Given the description of an element on the screen output the (x, y) to click on. 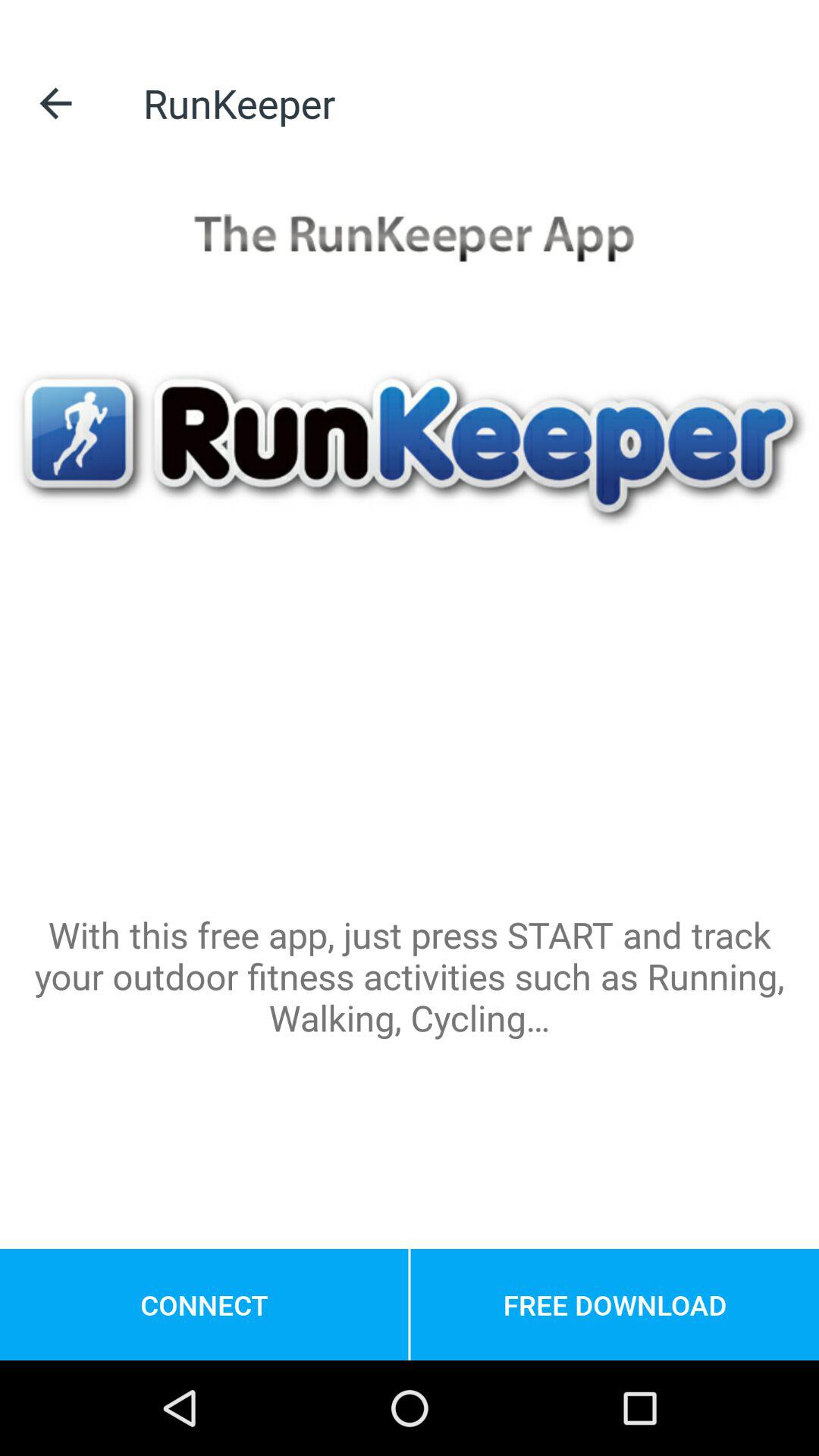
scroll until free download item (614, 1304)
